Given the description of an element on the screen output the (x, y) to click on. 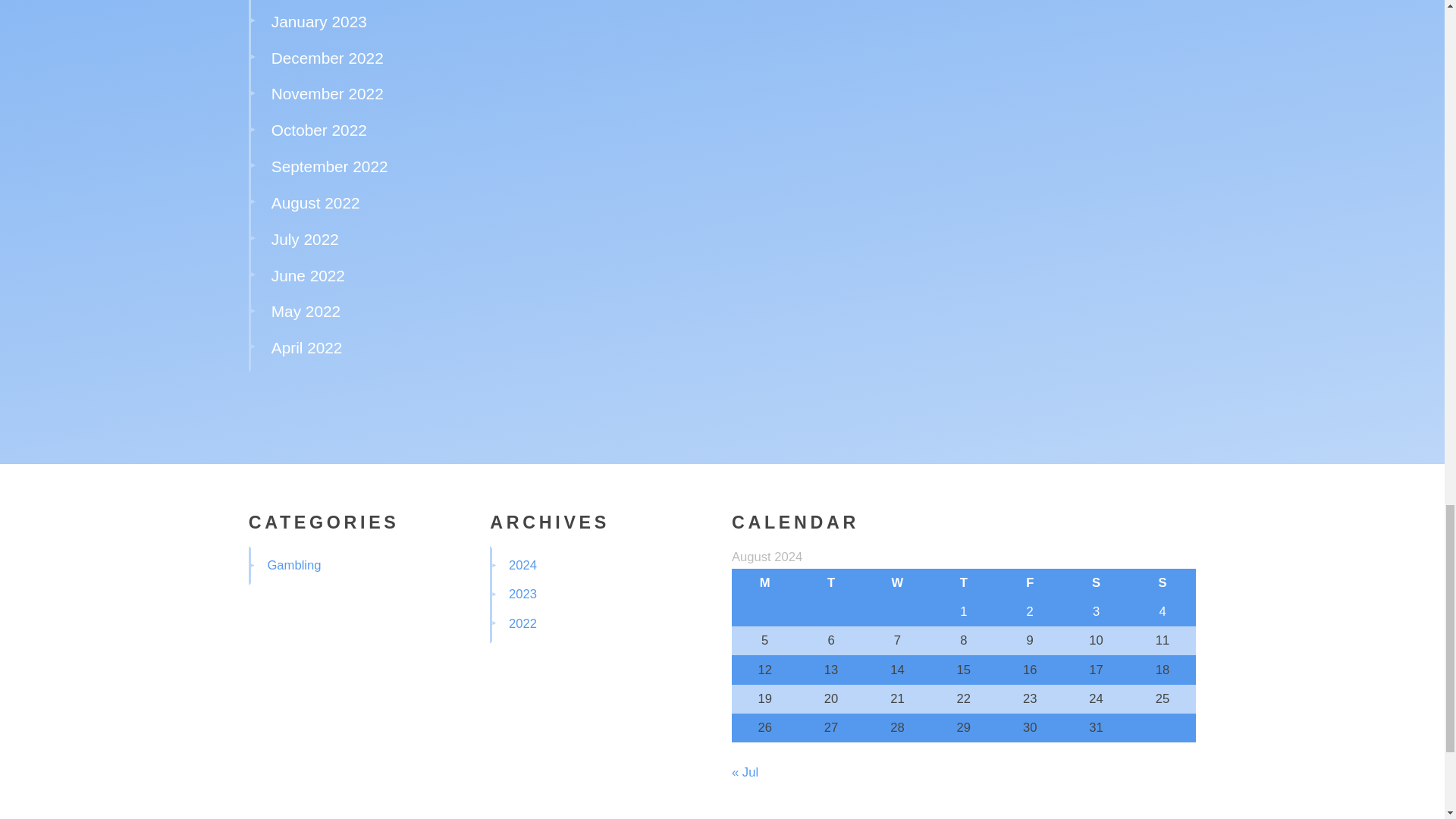
May 2022 (305, 311)
Wednesday (897, 582)
Monday (764, 582)
April 2022 (306, 347)
Thursday (962, 582)
July 2022 (304, 239)
Saturday (1095, 582)
Friday (1029, 582)
October 2022 (318, 129)
December 2022 (327, 57)
Sunday (1162, 582)
August 2022 (314, 202)
Tuesday (830, 582)
November 2022 (327, 93)
September 2022 (329, 166)
